Given the description of an element on the screen output the (x, y) to click on. 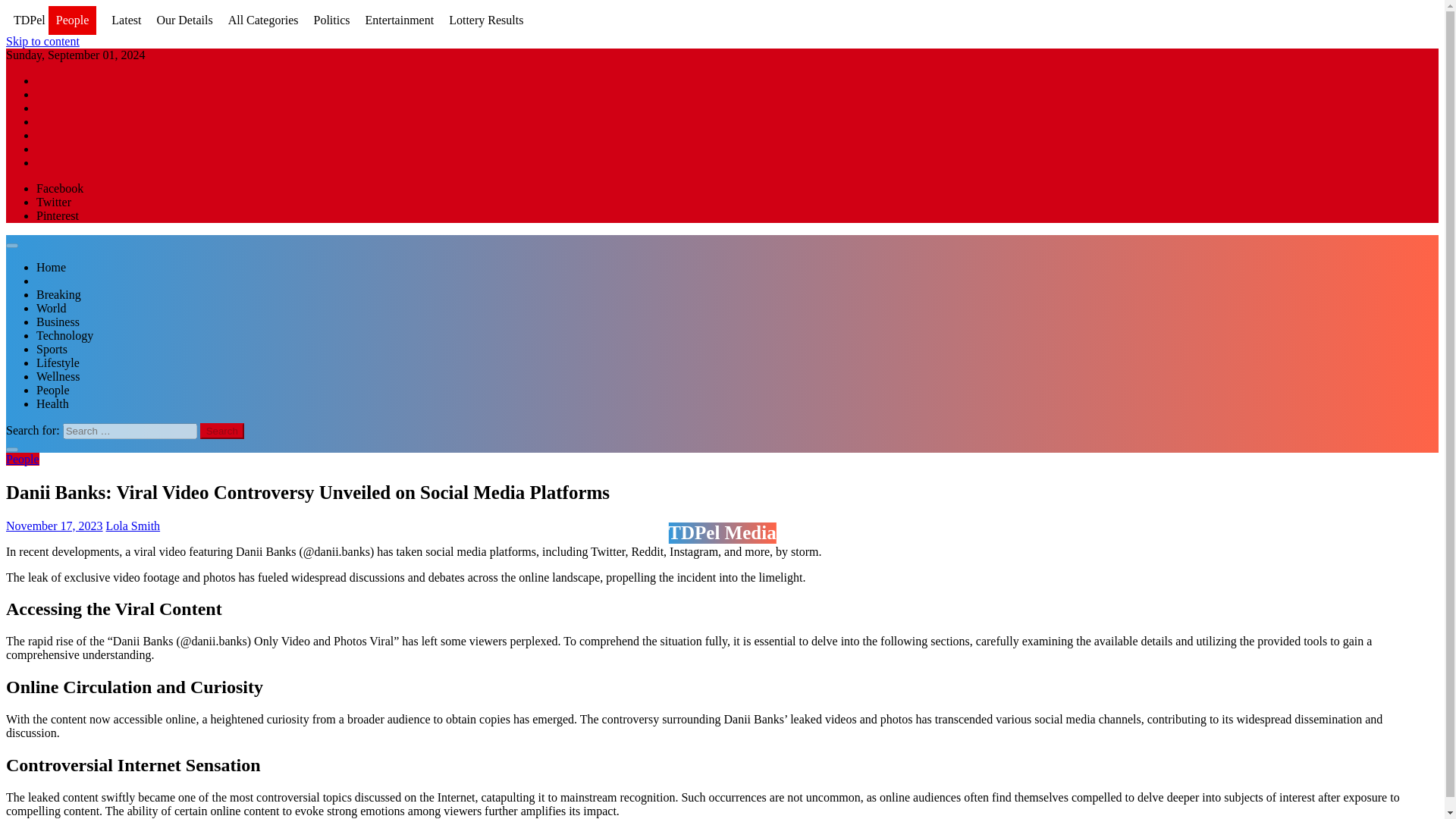
Skip to content (42, 41)
Business (58, 321)
People (22, 459)
TDPel (29, 19)
Lola Smith (133, 524)
Entertainment (399, 19)
Breaking (58, 294)
Home (50, 267)
Latest (126, 19)
People (52, 390)
